Given the description of an element on the screen output the (x, y) to click on. 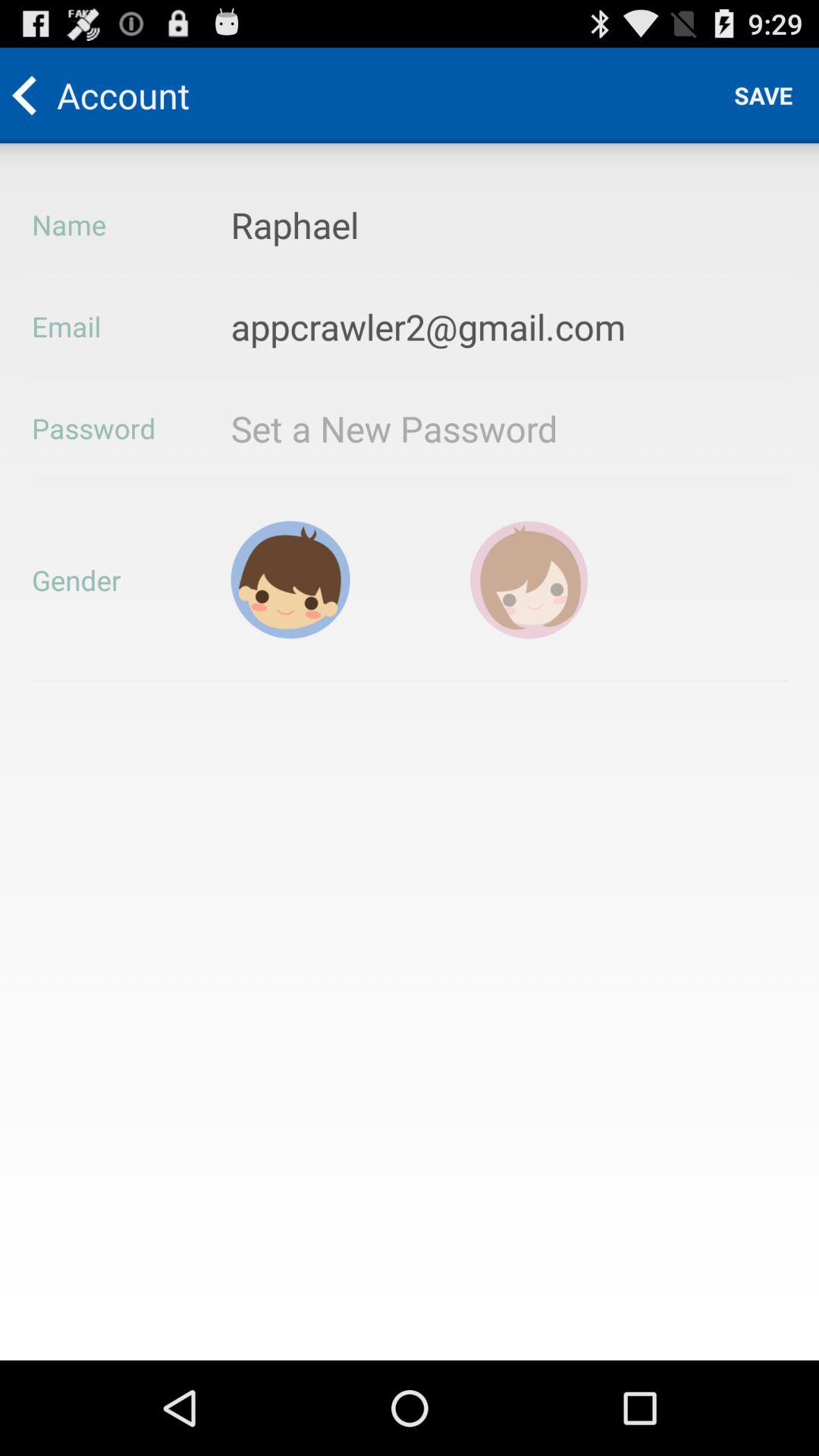
set a new password (438, 428)
